Given the description of an element on the screen output the (x, y) to click on. 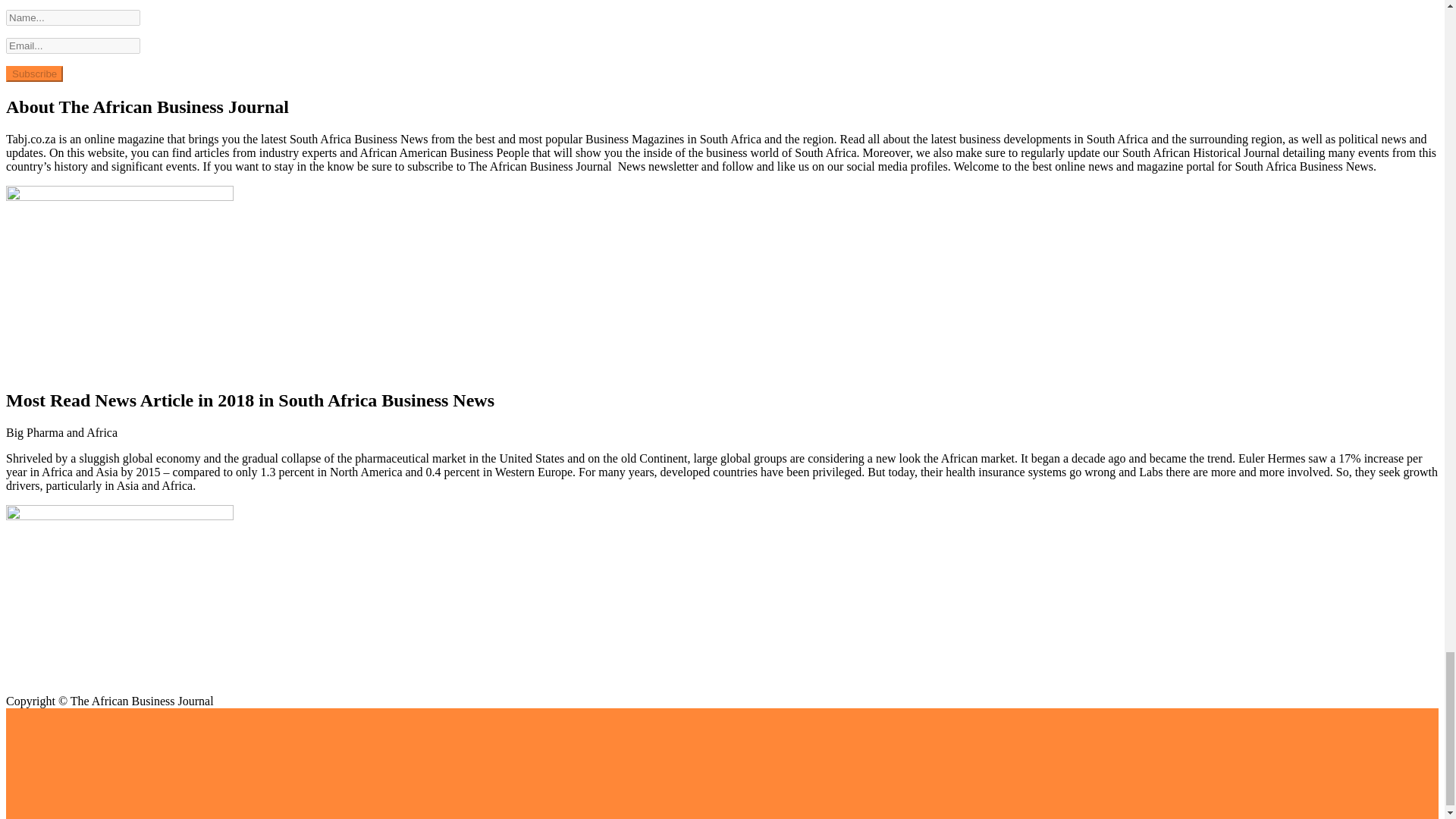
Subscribe (33, 73)
